Given the description of an element on the screen output the (x, y) to click on. 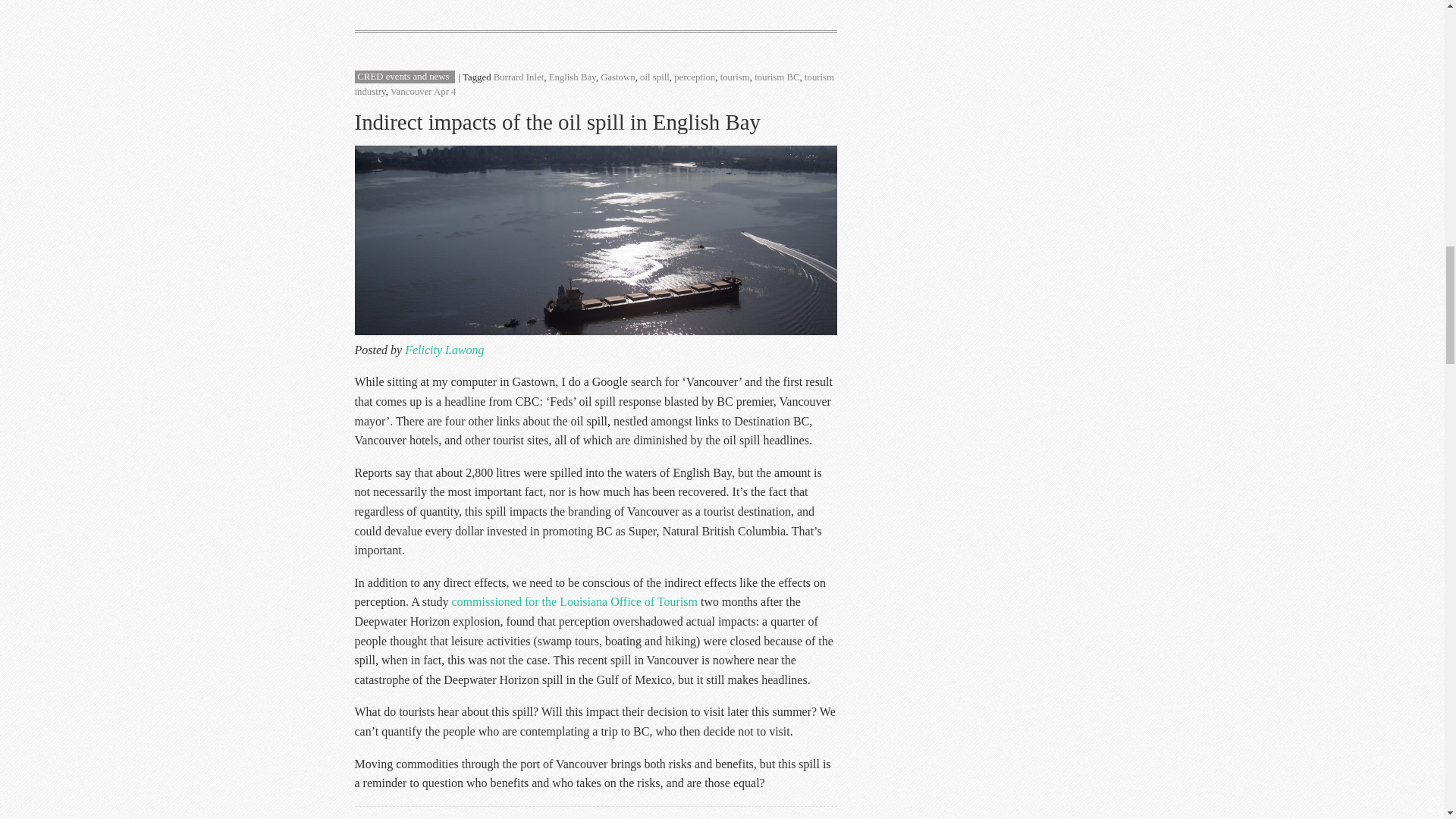
Indirect impacts of the oil spill in English Bay (558, 121)
perception (694, 77)
commissioned for the Louisiana Office of Tourism (574, 601)
tourism (734, 77)
View all posts in CRED events and news (402, 77)
English Bay (571, 77)
10:59 pm (445, 91)
tourism industry (594, 84)
Burrard Inlet (518, 77)
Vancouver (411, 91)
CRED events and news (402, 77)
Apr 4 (445, 91)
tourism BC (776, 77)
Felicity Lawong (443, 349)
